Given the description of an element on the screen output the (x, y) to click on. 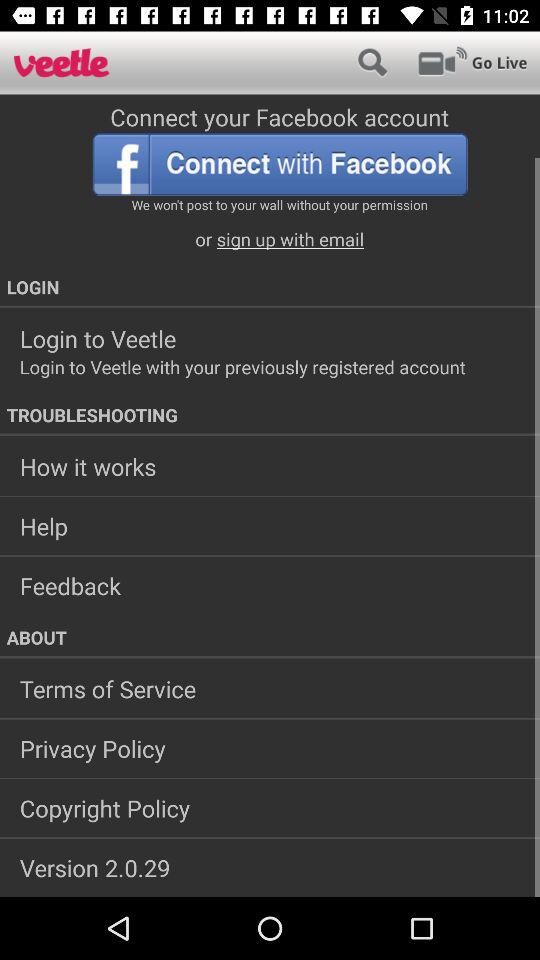
click the item above privacy policy icon (270, 689)
